Given the description of an element on the screen output the (x, y) to click on. 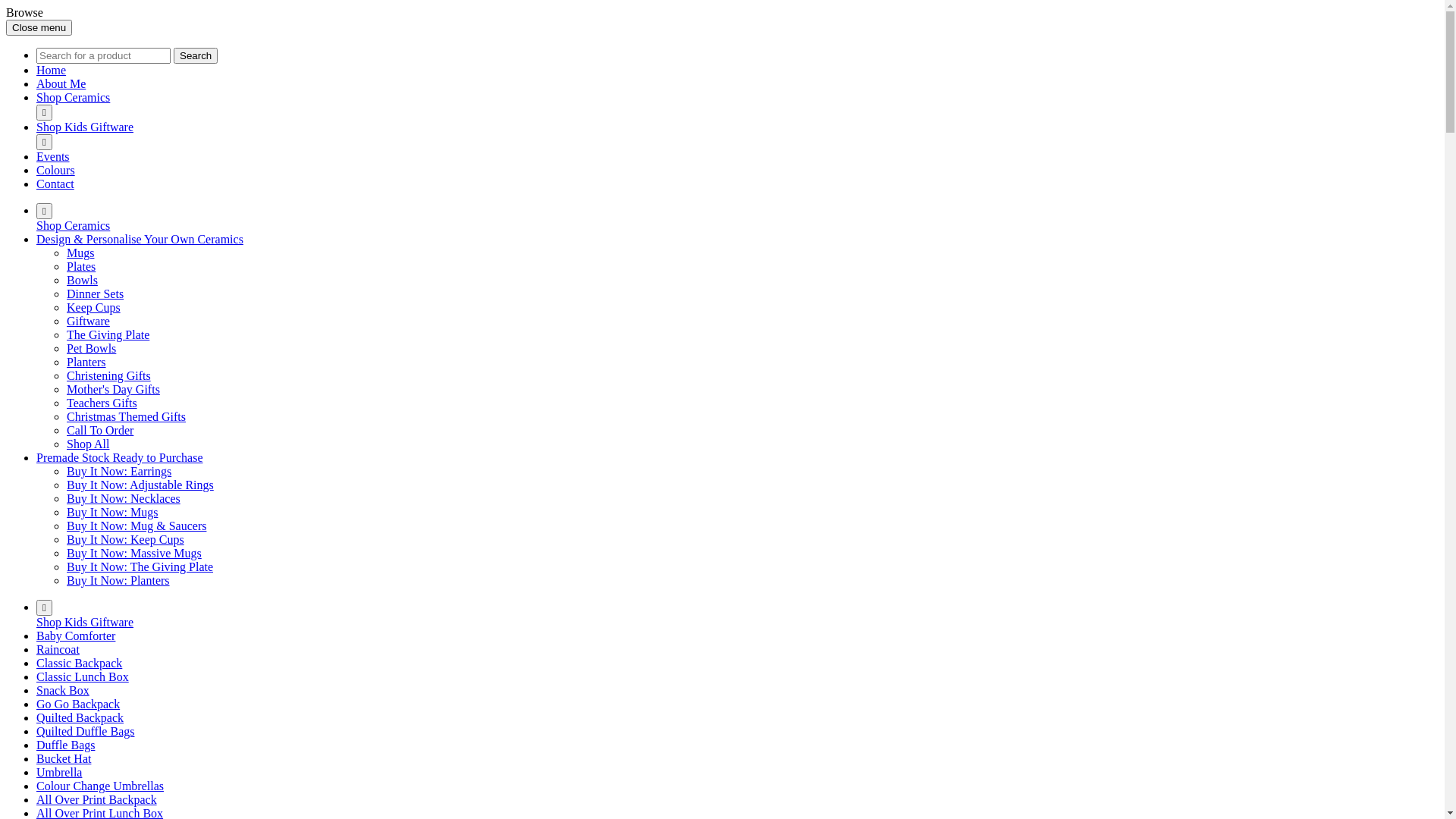
About Me Element type: text (60, 83)
Buy It Now: The Giving Plate Element type: text (139, 566)
Bucket Hat Element type: text (63, 758)
Buy It Now: Earrings Element type: text (118, 470)
Home Element type: text (50, 69)
Call To Order Element type: text (99, 429)
Buy It Now: Adjustable Rings Element type: text (139, 484)
Keep Cups Element type: text (93, 307)
Snack Box Element type: text (62, 690)
Shop Kids Giftware Element type: text (84, 621)
Colours Element type: text (55, 169)
Premade Stock Ready to Purchase Element type: text (119, 457)
Giftware Element type: text (87, 320)
Buy It Now: Massive Mugs Element type: text (133, 552)
Quilted Backpack Element type: text (79, 717)
Search Element type: text (195, 55)
Go Go Backpack Element type: text (77, 703)
Bowls Element type: text (81, 279)
Shop Ceramics Element type: text (72, 97)
Dinner Sets Element type: text (94, 293)
Shop Ceramics Element type: text (72, 225)
Colour Change Umbrellas Element type: text (99, 785)
Pet Bowls Element type: text (91, 348)
Buy It Now: Planters Element type: text (117, 580)
Shop All Element type: text (87, 443)
Buy It Now: Mugs Element type: text (111, 511)
Mother's Day Gifts Element type: text (113, 388)
Umbrella Element type: text (58, 771)
Design & Personalise Your Own Ceramics Element type: text (139, 238)
Classic Backpack Element type: text (79, 662)
Buy It Now: Necklaces Element type: text (123, 498)
Buy It Now: Mug & Saucers Element type: text (136, 525)
Shop Kids Giftware Element type: text (84, 126)
Events Element type: text (52, 156)
Contact Element type: text (55, 183)
Close menu Element type: text (39, 27)
Teachers Gifts Element type: text (101, 402)
Baby Comforter Element type: text (75, 635)
Planters Element type: text (86, 361)
The Giving Plate Element type: text (107, 334)
Buy It Now: Keep Cups Element type: text (125, 539)
Quilted Duffle Bags Element type: text (85, 730)
All Over Print Backpack Element type: text (96, 799)
Christening Gifts Element type: text (108, 375)
Classic Lunch Box Element type: text (82, 676)
Raincoat Element type: text (57, 649)
Duffle Bags Element type: text (65, 744)
Christmas Themed Gifts Element type: text (125, 416)
Mugs Element type: text (80, 252)
Plates Element type: text (80, 266)
